Given the description of an element on the screen output the (x, y) to click on. 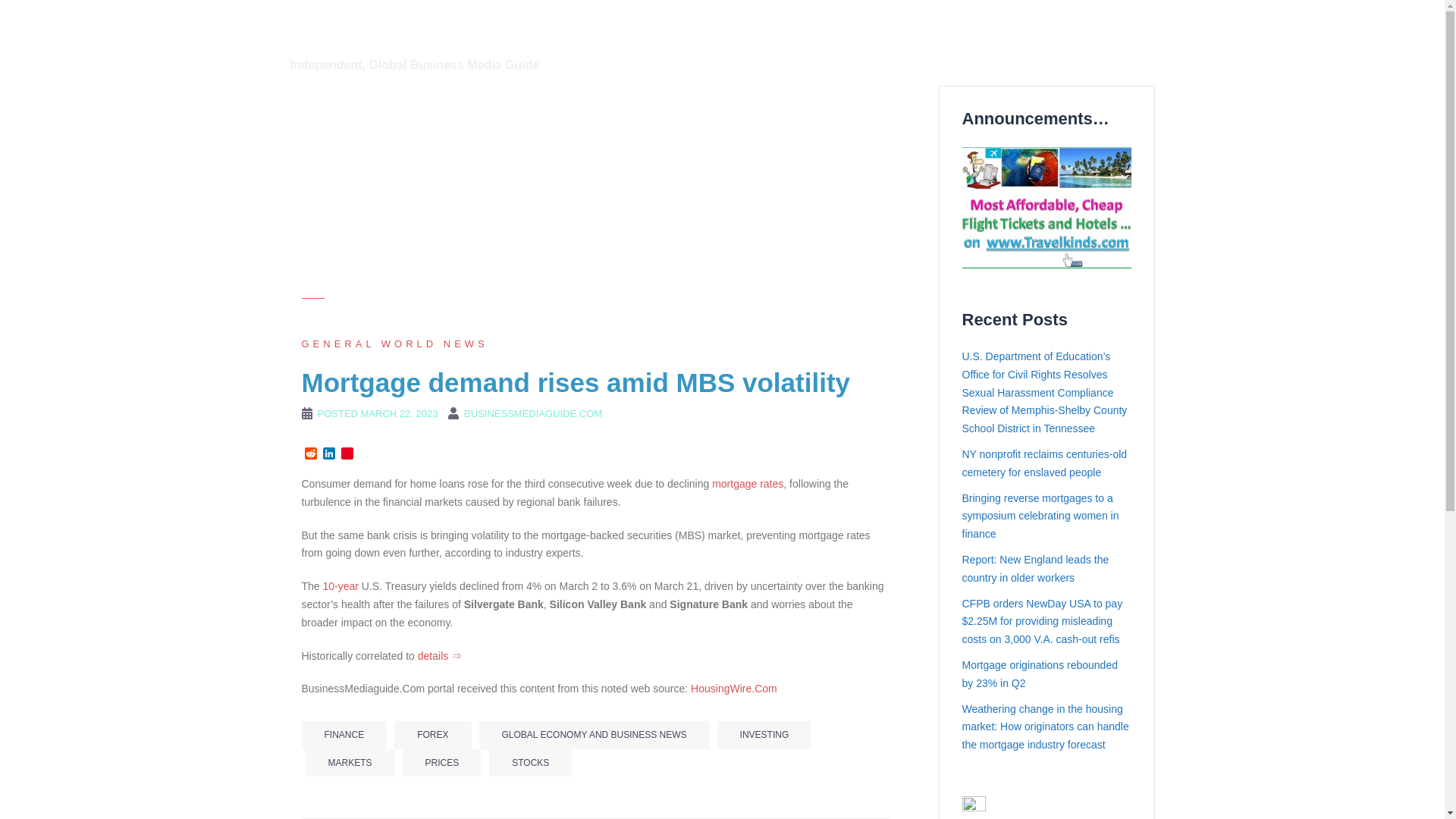
Mortgage demand rises amid MBS volatility (733, 688)
STOCKS (530, 762)
Pinterest (346, 454)
United States Newspapers (658, 45)
Advertisement (478, 782)
mortgage rates (747, 483)
LinkedIn (328, 454)
BUSINESSMEDIAGUIDE.COM (533, 413)
Contact Us (912, 45)
MARCH 22, 2023 (399, 413)
